Given the description of an element on the screen output the (x, y) to click on. 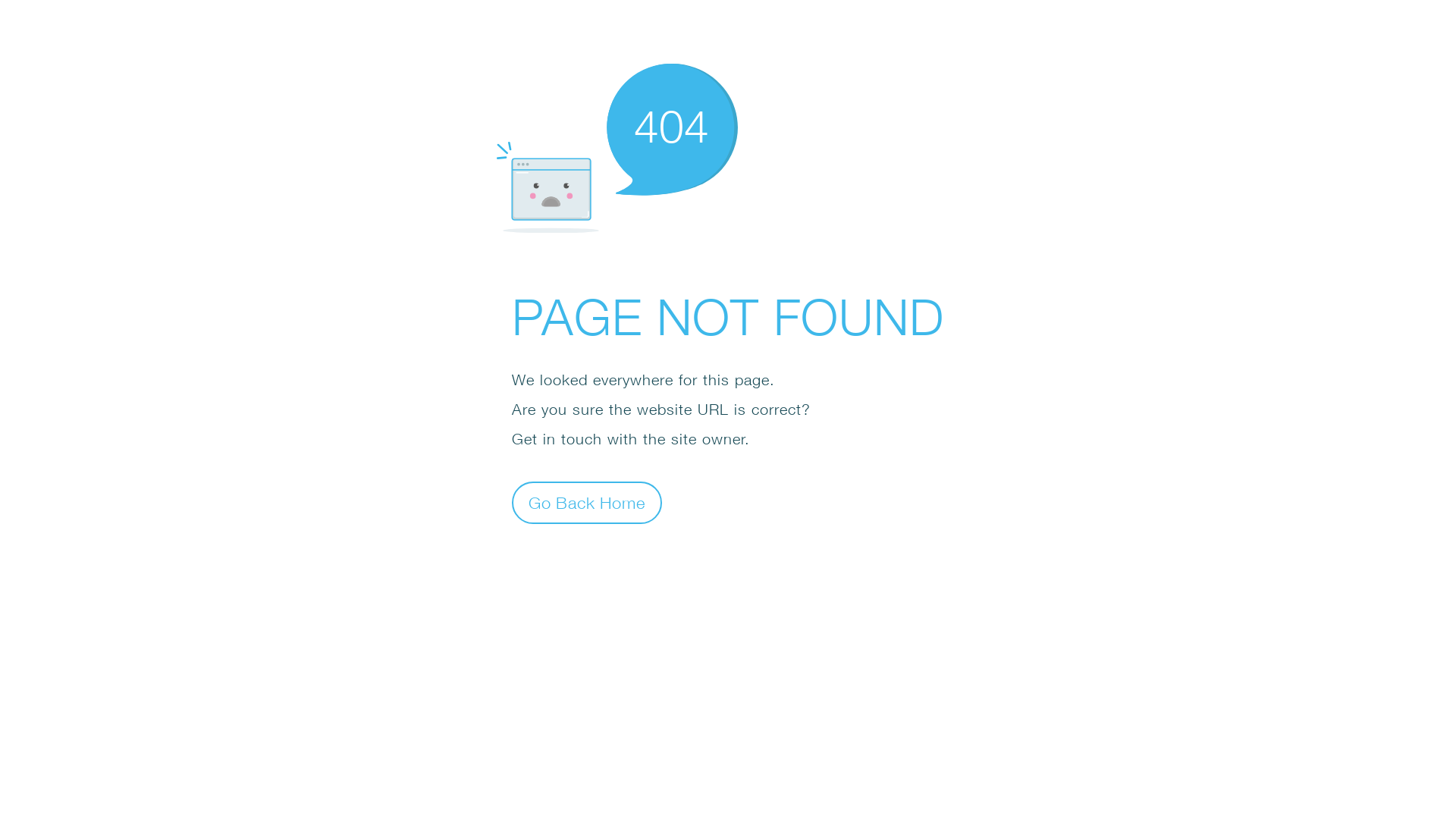
Go Back Home Element type: text (586, 502)
